Given the description of an element on the screen output the (x, y) to click on. 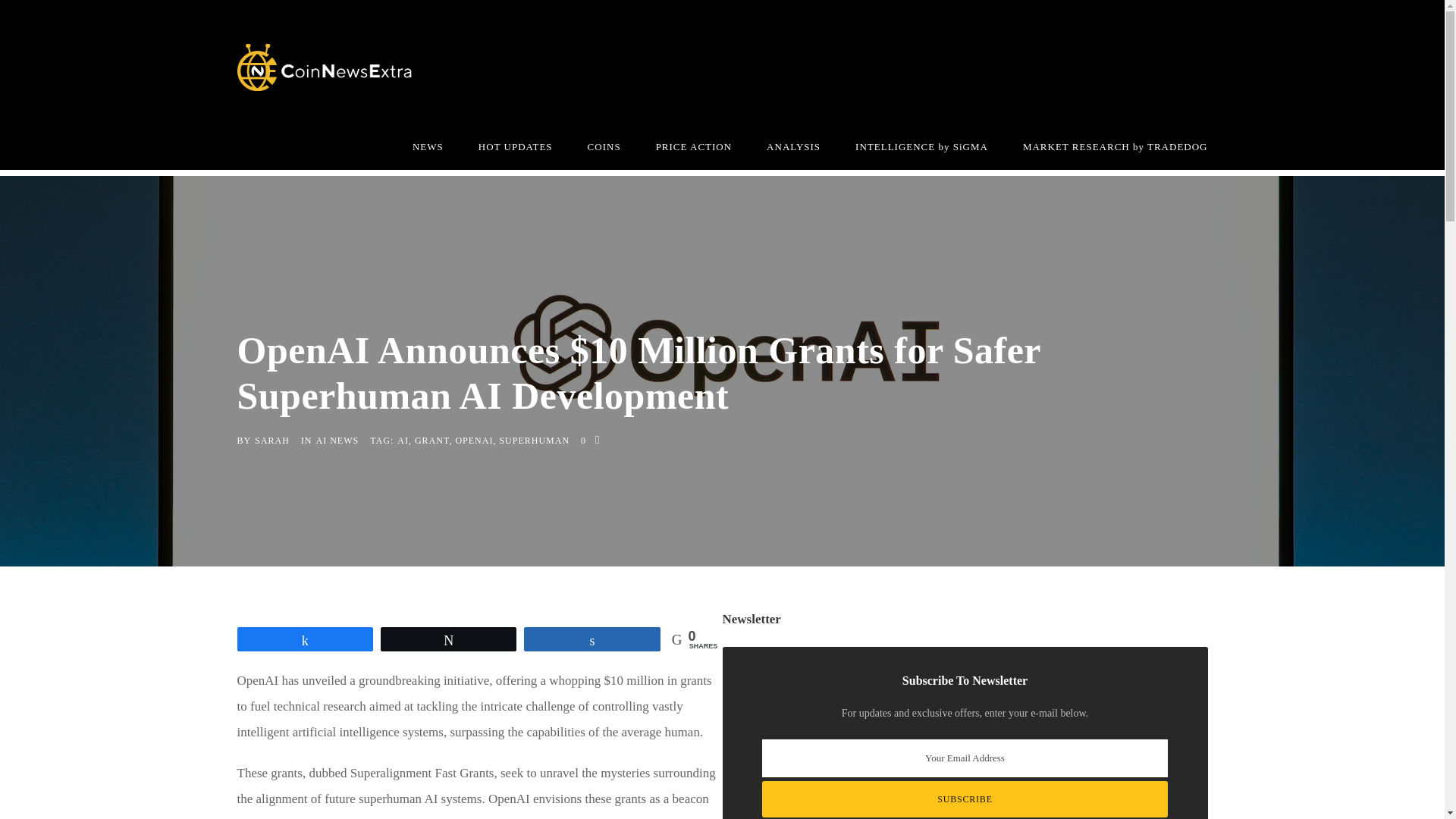
HOT UPDATES (516, 153)
GRANT (431, 439)
NEWS (428, 153)
SUPERHUMAN (534, 439)
PRICE ACTION (694, 153)
Posts by Sarah (271, 439)
ANALYSIS (794, 153)
MARKET RESEARCH by TRADEDOG (1115, 153)
AI NEWS (337, 439)
OPENAI (473, 439)
Subscribe (964, 799)
INTELLIGENCE by SiGMA (922, 153)
COINS (604, 153)
AI (403, 439)
SARAH (271, 439)
